Given the description of an element on the screen output the (x, y) to click on. 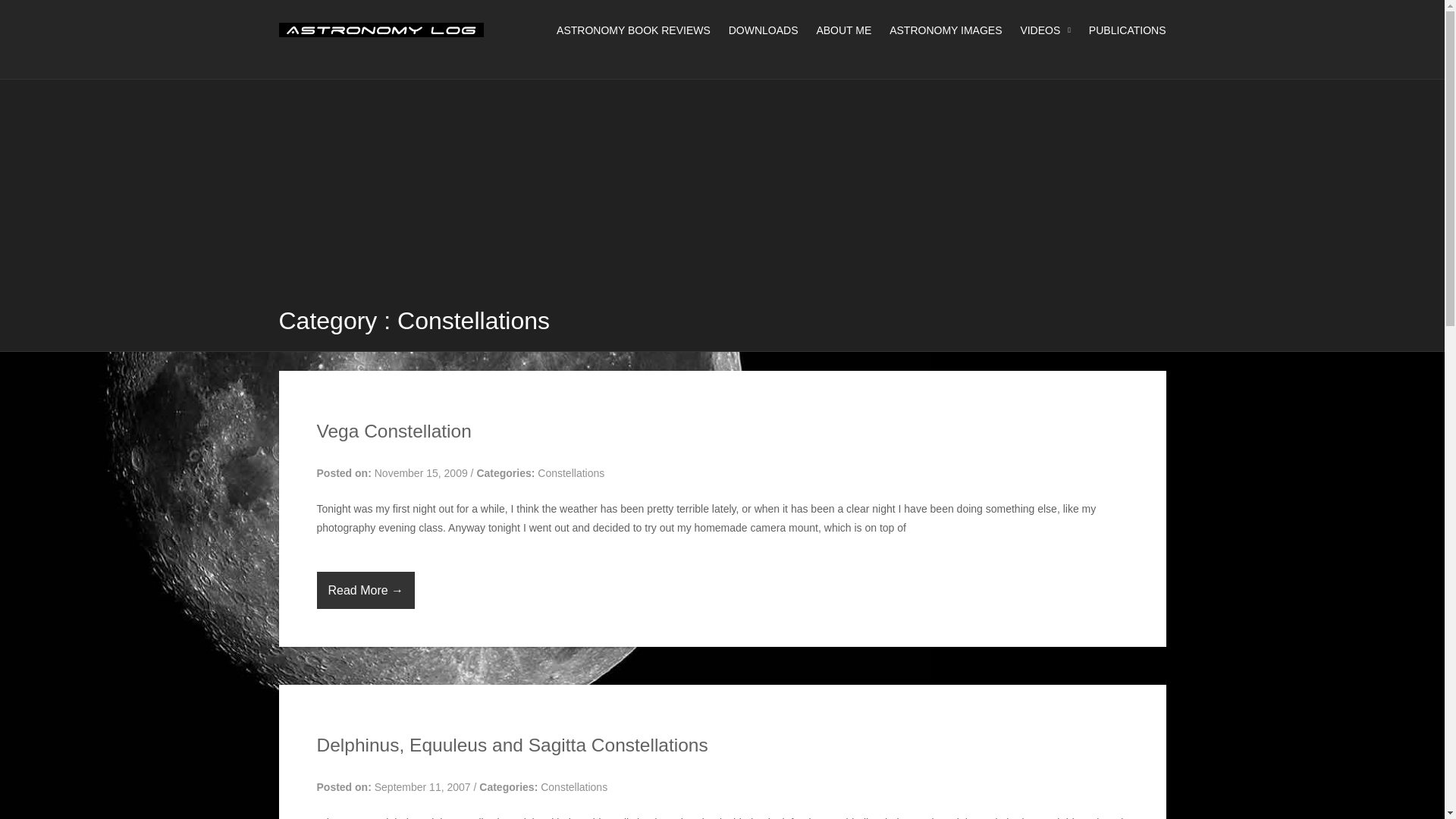
ASTRONOMY IMAGES (938, 30)
More (365, 590)
Constellations (570, 472)
DOWNLOADS (755, 30)
PUBLICATIONS (1120, 30)
Delphinus, Equuleus and Sagitta Constellations (512, 744)
ABOUT ME (835, 30)
VIDEOS (1037, 30)
Vega Constellation (394, 430)
Constellations (573, 787)
Astronomy Log (381, 33)
ASTRONOMY BOOK REVIEWS (625, 30)
